Given the description of an element on the screen output the (x, y) to click on. 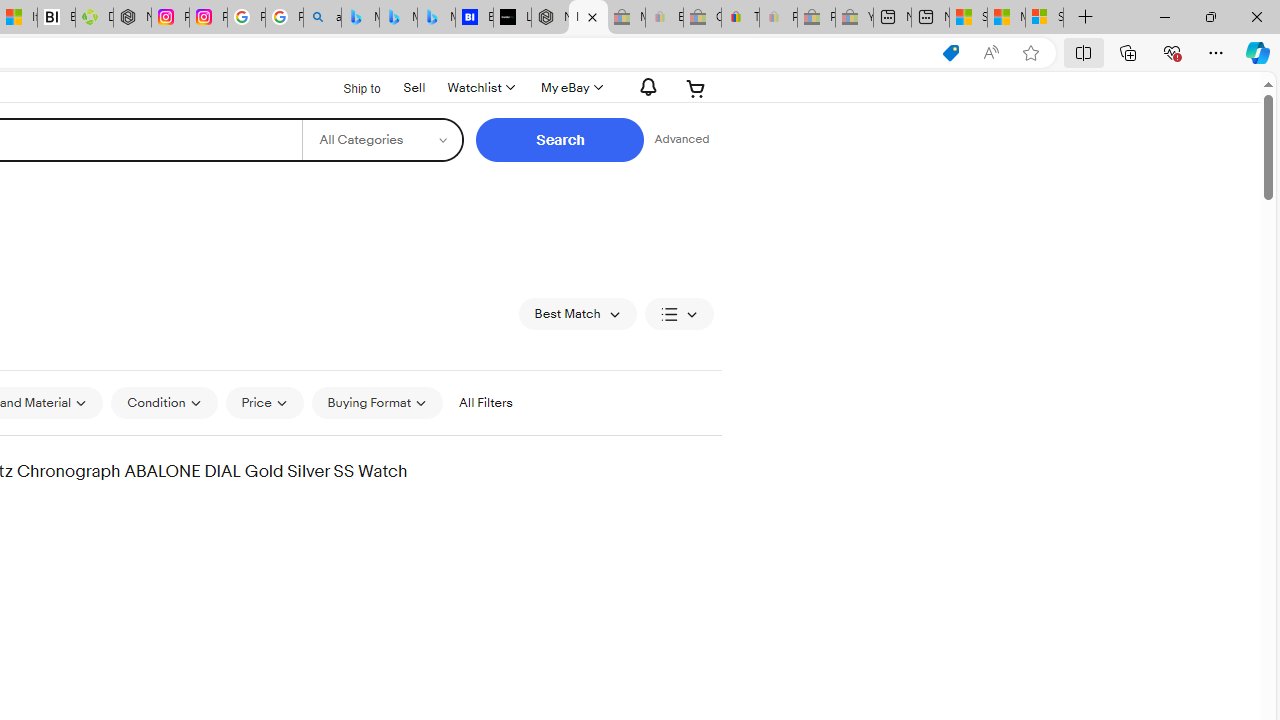
Payments Terms of Use | eBay.com - Sleeping (778, 17)
